Given the description of an element on the screen output the (x, y) to click on. 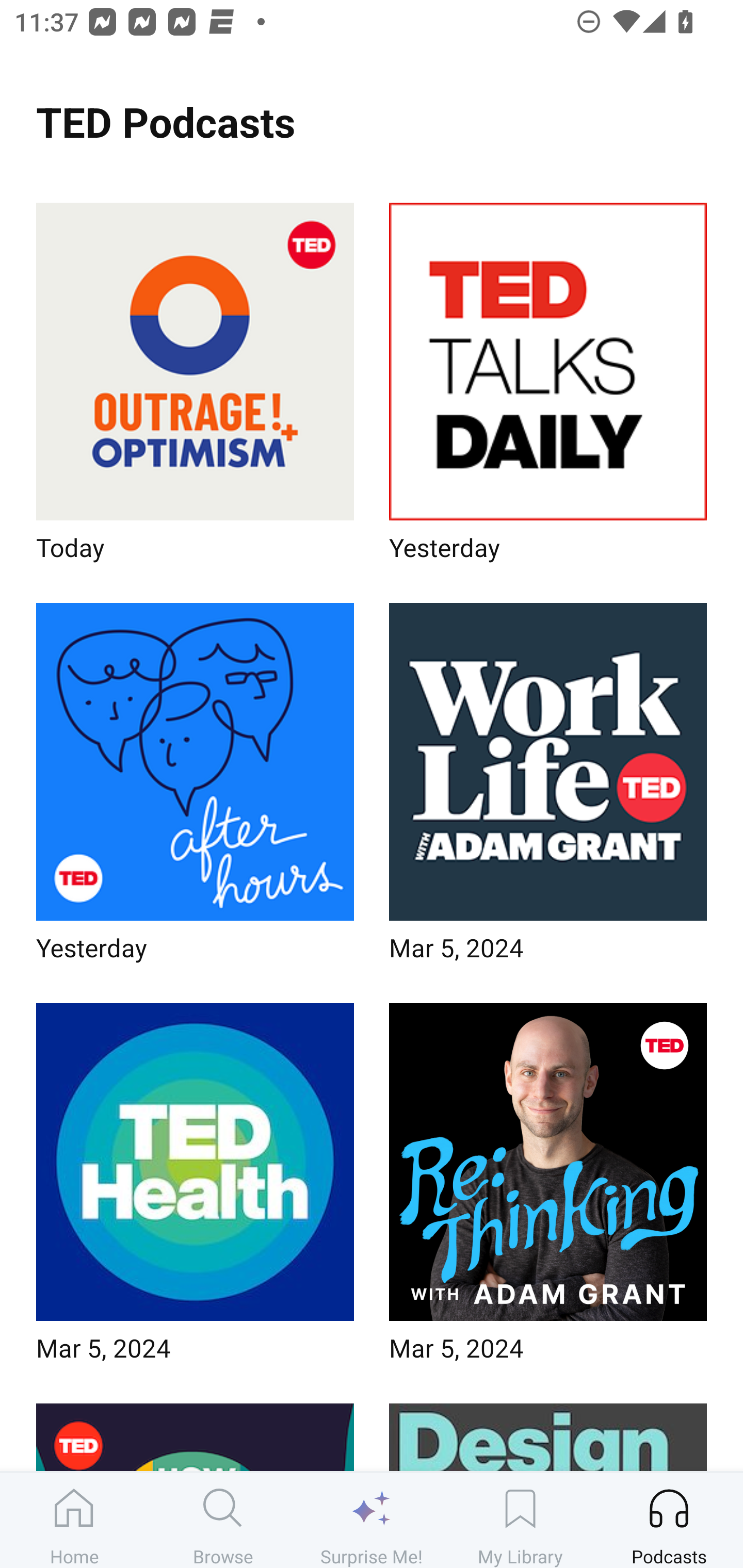
Today (194, 387)
Yesterday (547, 387)
Yesterday (194, 788)
Mar 5, 2024 (547, 788)
Mar 5, 2024 (194, 1189)
Mar 5, 2024 (547, 1189)
Home (74, 1520)
Browse (222, 1520)
Surprise Me! (371, 1520)
My Library (519, 1520)
Podcasts (668, 1520)
